Given the description of an element on the screen output the (x, y) to click on. 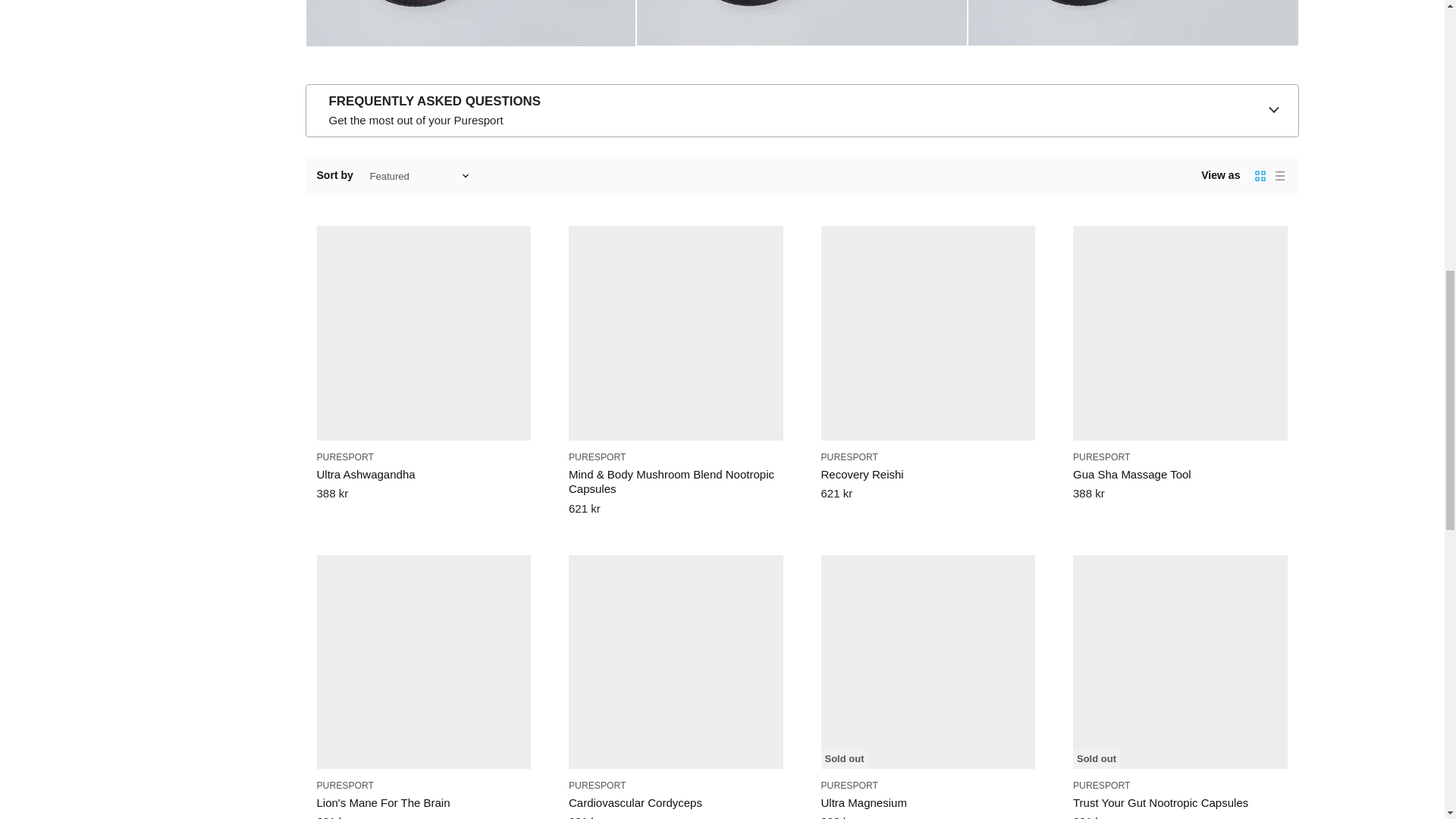
Puresport Cordyceps (1133, 52)
Puresport Mushroom Complex (801, 52)
Puresport Ultra Ashwagandha (470, 52)
Grid icon (1260, 175)
List icon (1279, 175)
